Given the description of an element on the screen output the (x, y) to click on. 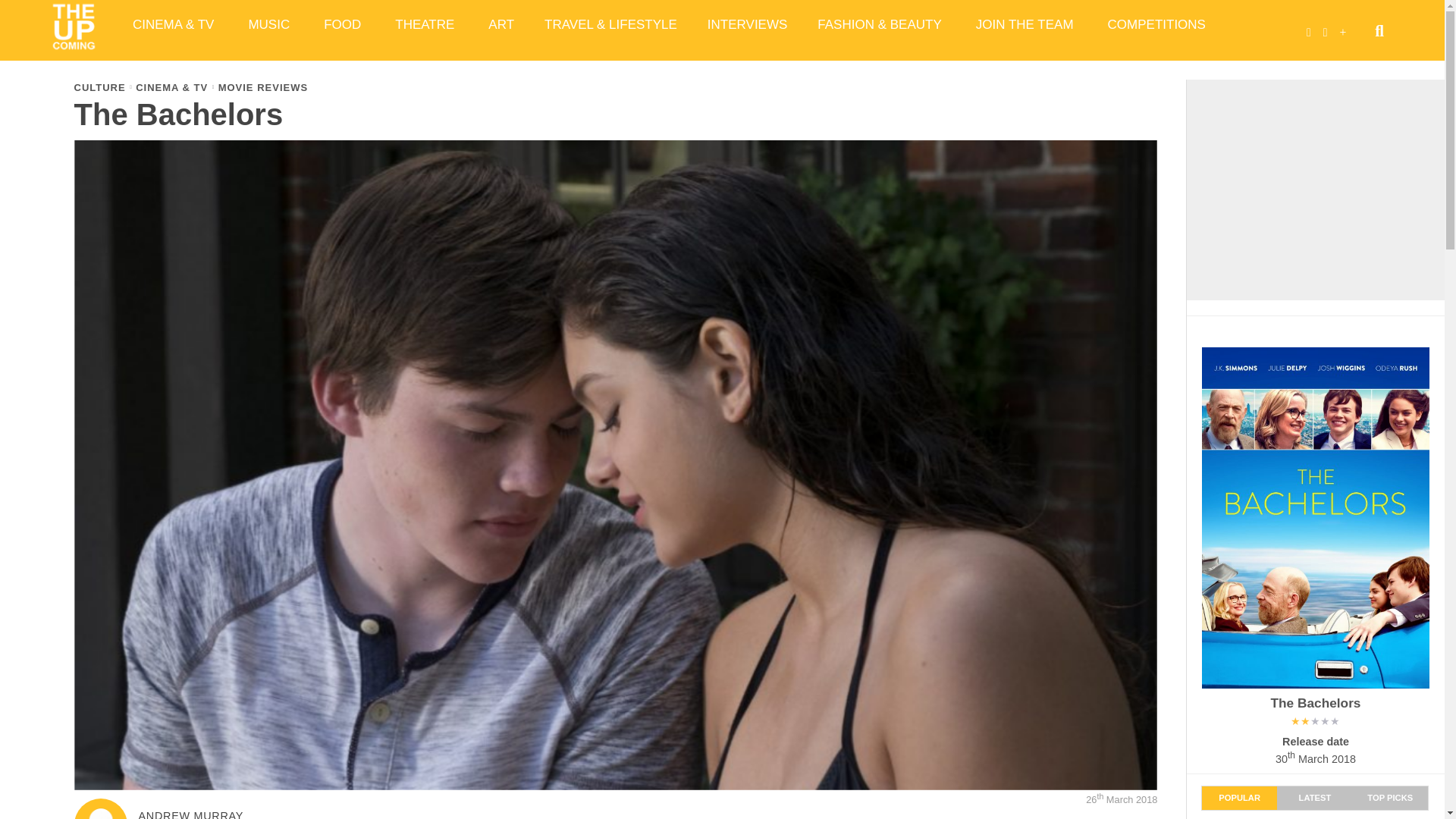
JOIN THE TEAM (1026, 24)
INTERVIEWS (747, 24)
MUSIC (270, 24)
THEATRE (426, 24)
FOOD (344, 24)
ART (501, 24)
